Given the description of an element on the screen output the (x, y) to click on. 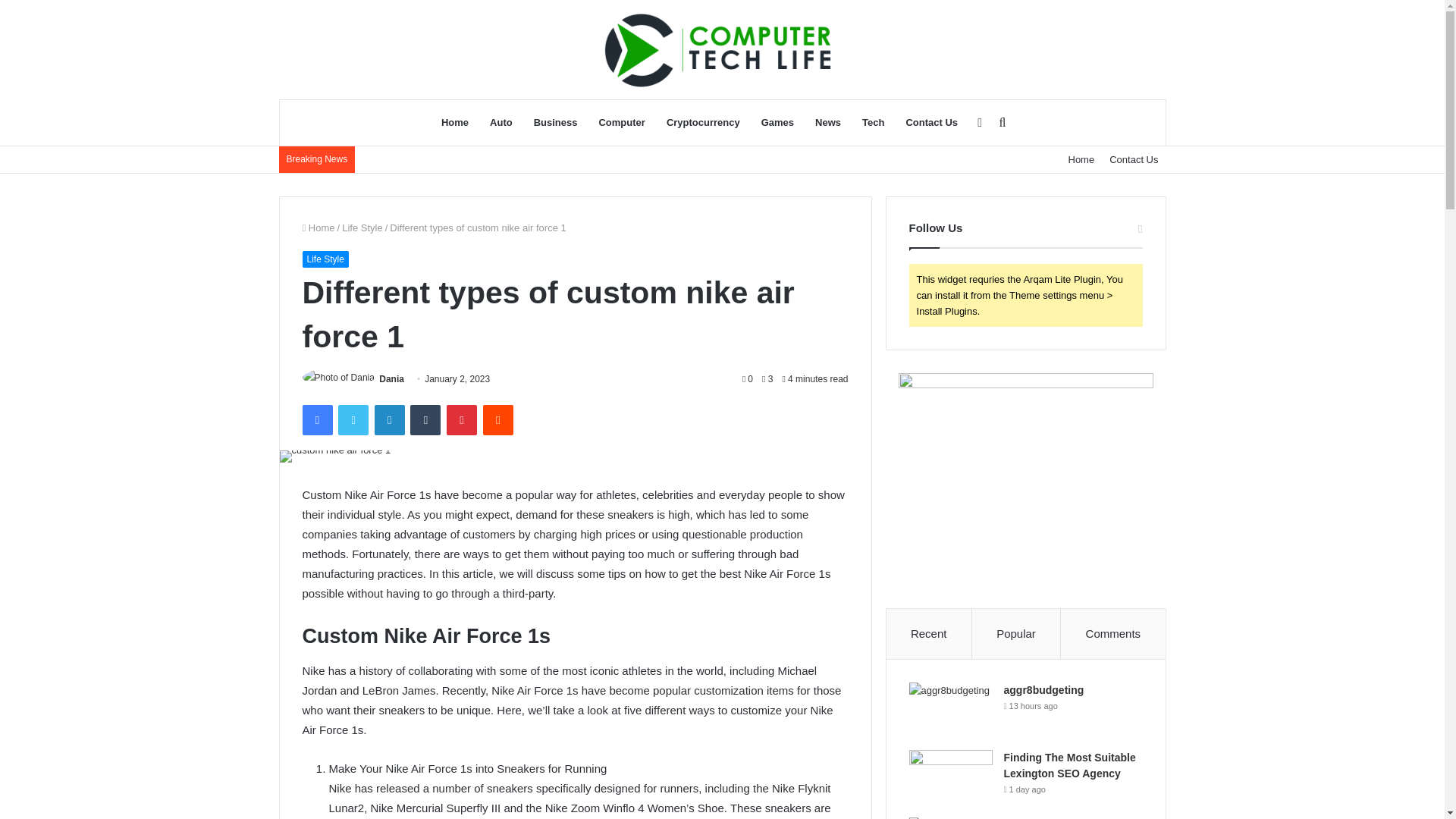
Home (1080, 159)
Tech (873, 122)
Dania (391, 378)
LinkedIn (389, 419)
Home (454, 122)
News (828, 122)
Tumblr (425, 419)
Computer (621, 122)
Twitter (352, 419)
Business (555, 122)
